Given the description of an element on the screen output the (x, y) to click on. 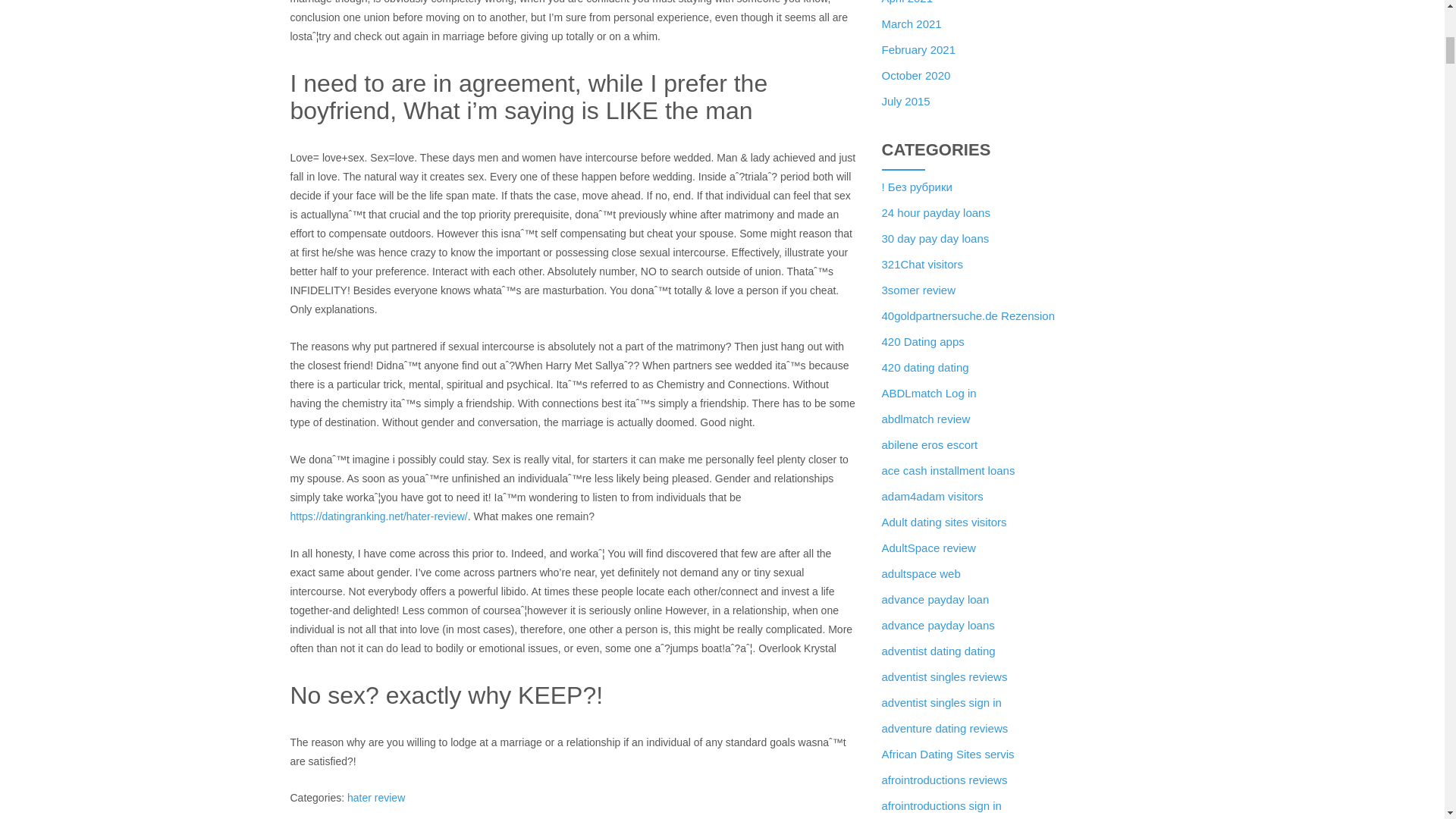
October 2020 (915, 74)
3somer review (917, 289)
ABDLmatch Log in (927, 392)
30 day pay day loans (934, 237)
April 2021 (906, 2)
24 hour payday loans (935, 212)
40goldpartnersuche.de Rezension (967, 315)
420 dating dating (924, 367)
420 Dating apps (921, 341)
March 2021 (910, 23)
